Given the description of an element on the screen output the (x, y) to click on. 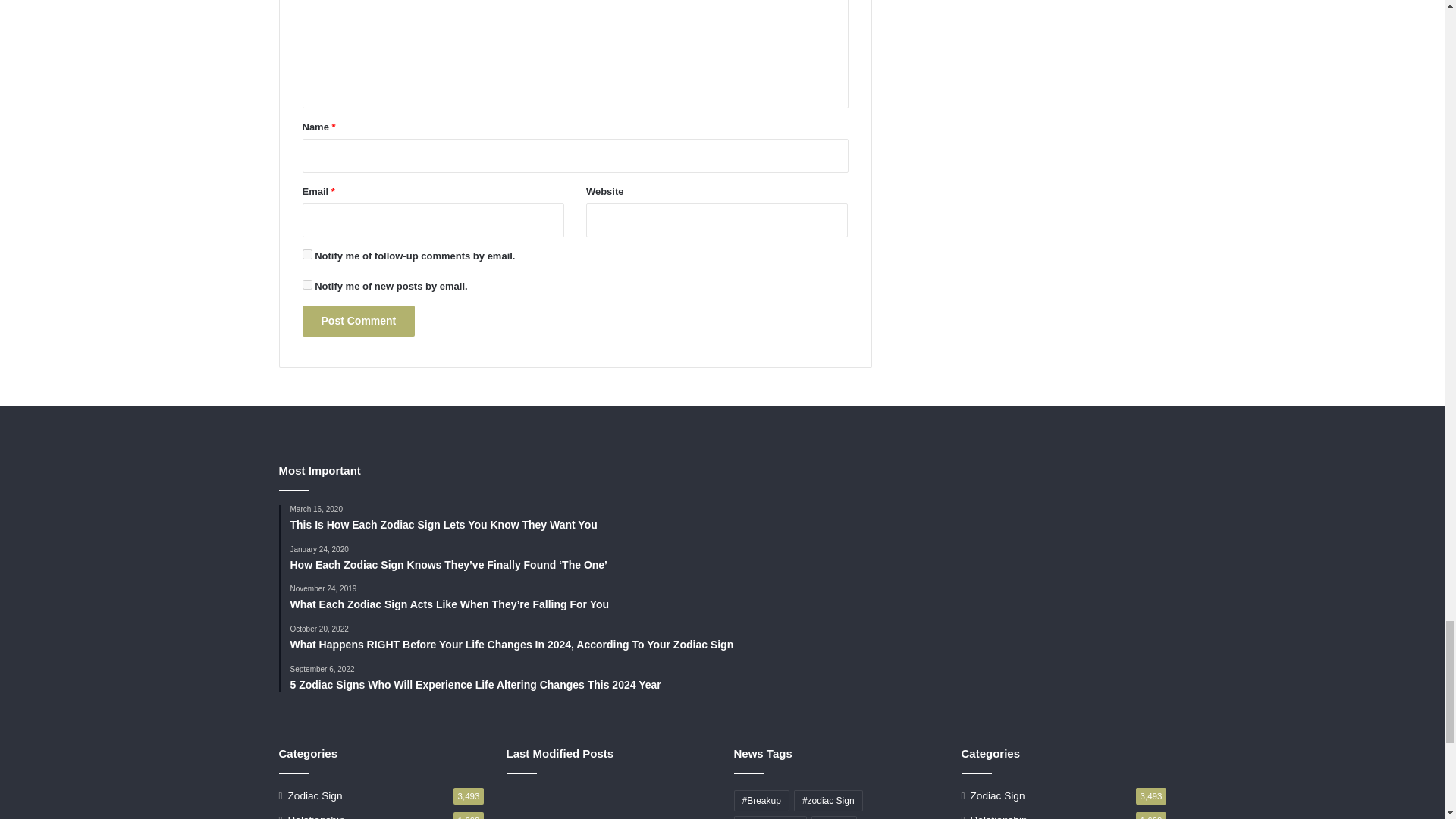
subscribe (306, 254)
subscribe (306, 284)
Post Comment (357, 320)
